Given the description of an element on the screen output the (x, y) to click on. 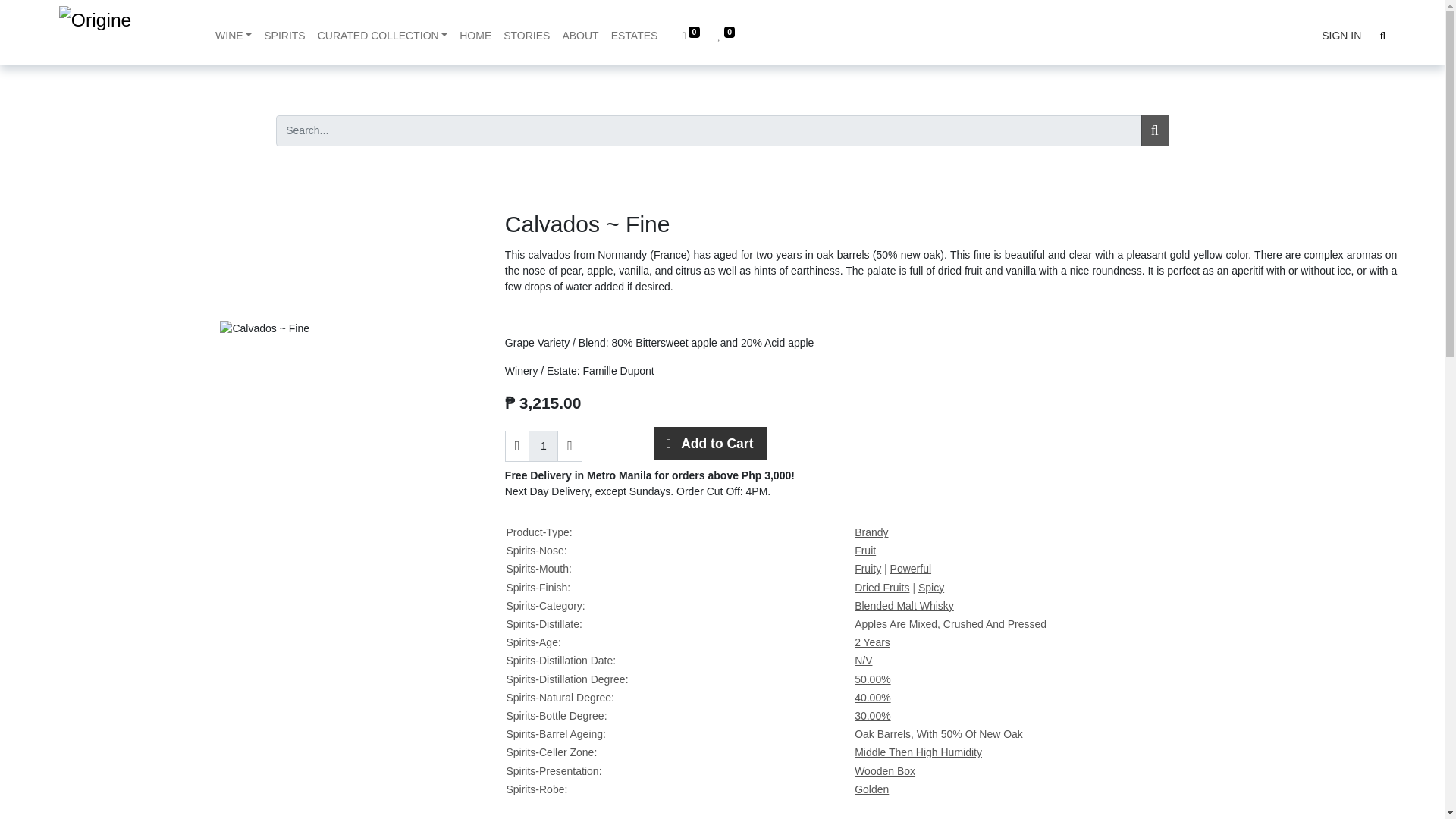
Search (1155, 130)
Origine (121, 31)
Remove one (517, 445)
WINE (233, 35)
1 (542, 445)
Add one (569, 445)
